Given the description of an element on the screen output the (x, y) to click on. 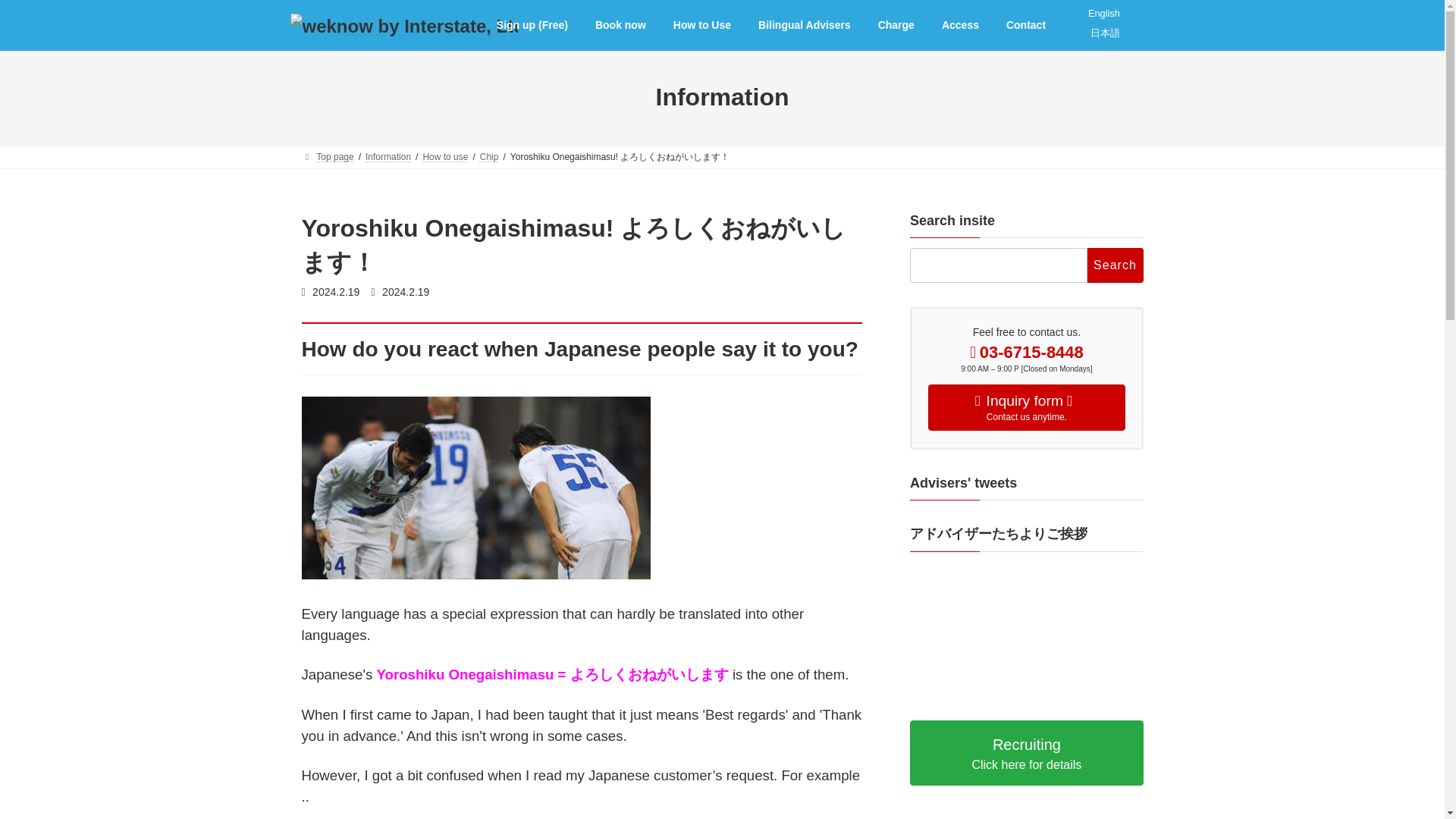
Search (1114, 265)
Top page (327, 156)
English (1026, 407)
Access (1103, 12)
Japanese (960, 25)
Contact (1104, 32)
Search (1025, 25)
Bilingual Advisers (1114, 265)
Chip (804, 25)
Book now (489, 156)
Charge (619, 25)
Information (896, 25)
How to Use (387, 156)
